Given the description of an element on the screen output the (x, y) to click on. 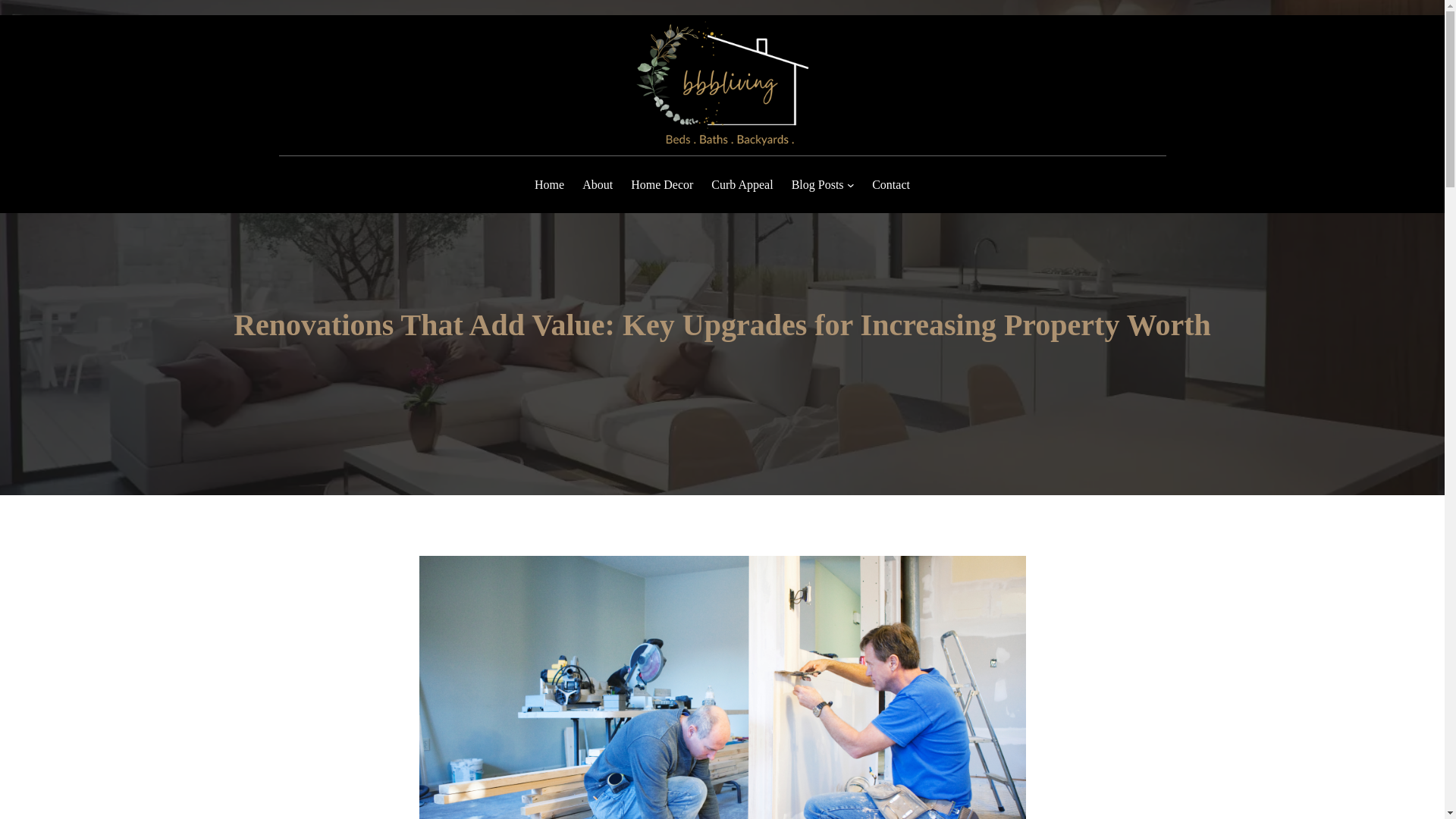
Home (549, 184)
Contact (891, 184)
About (597, 184)
Blog Posts (818, 184)
Home Decor (661, 184)
Curb Appeal (742, 184)
